Given the description of an element on the screen output the (x, y) to click on. 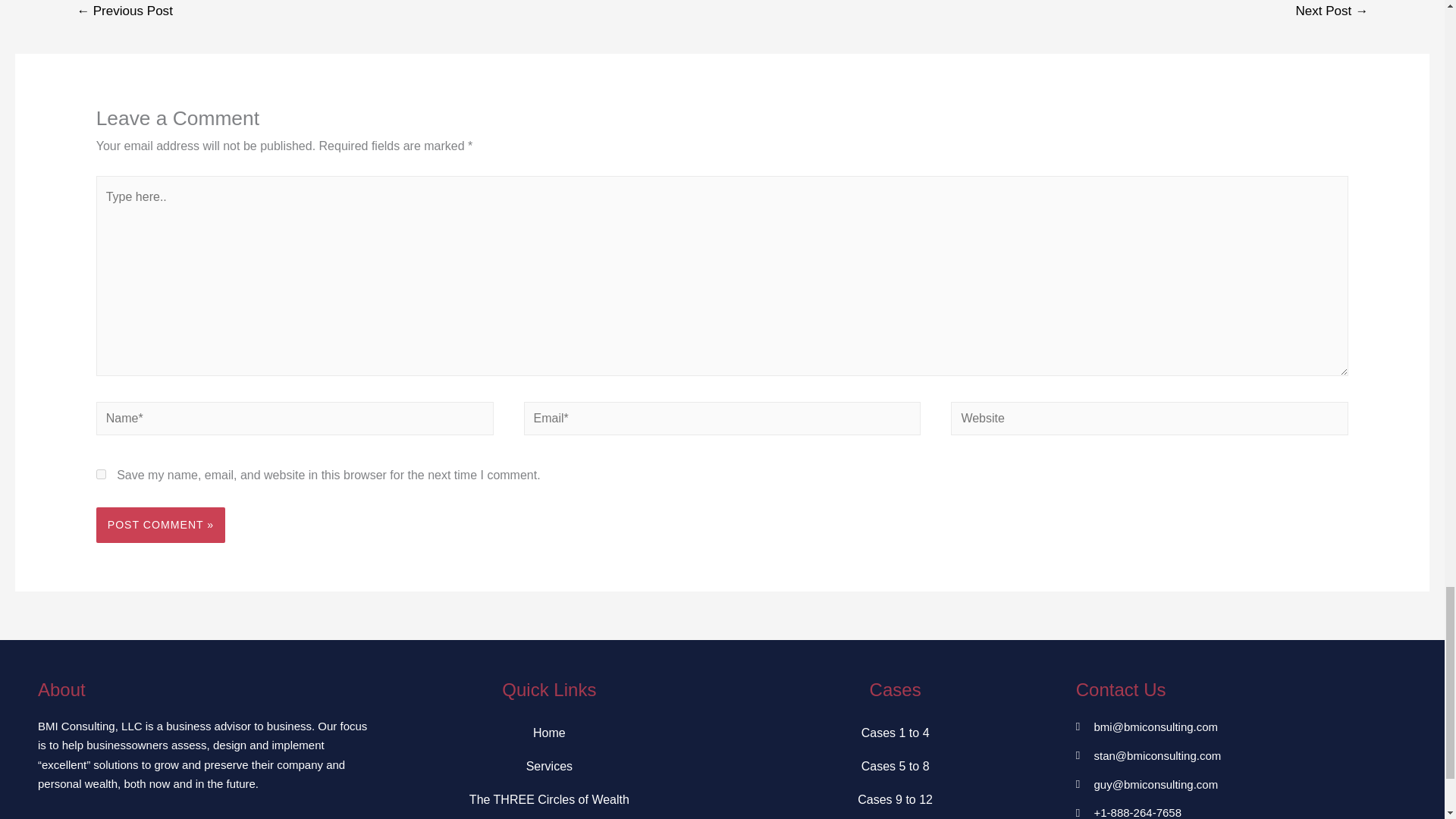
yes (101, 474)
